Given the description of an element on the screen output the (x, y) to click on. 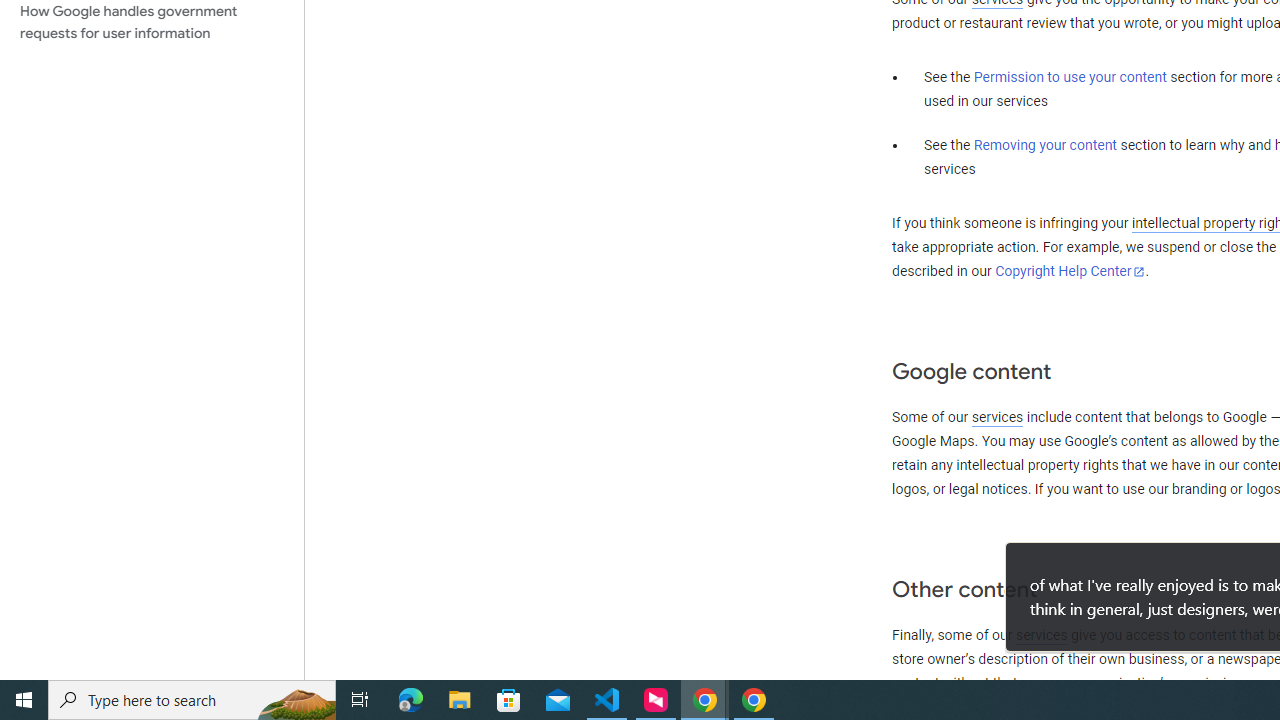
services (1041, 635)
Copyright Help Center (1069, 271)
Permission to use your content (1069, 78)
Removing your content (1044, 145)
